Given the description of an element on the screen output the (x, y) to click on. 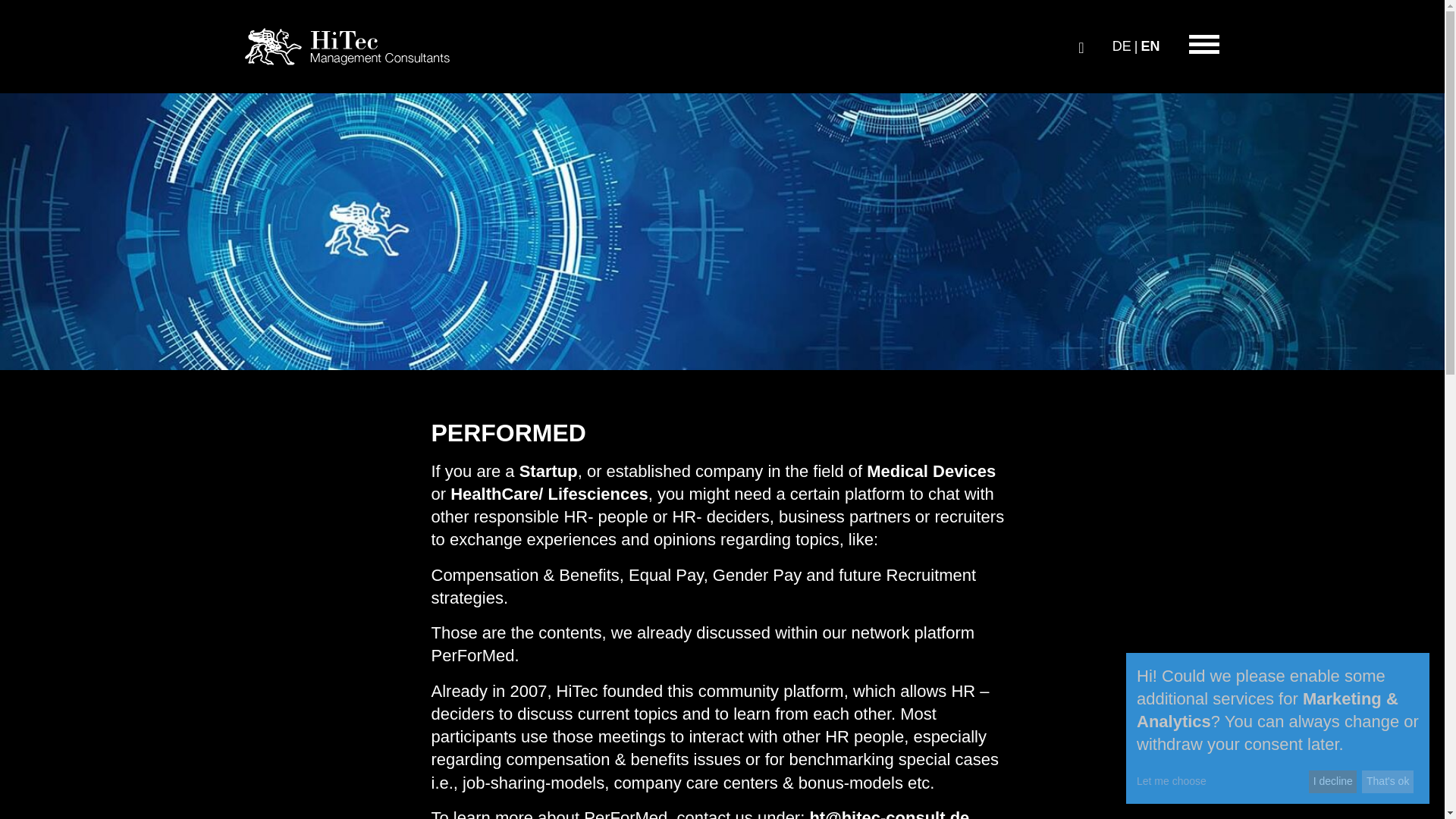
Enter keywords and press Return (1081, 46)
EN (1149, 46)
DE (1121, 46)
on (1219, 51)
